Given the description of an element on the screen output the (x, y) to click on. 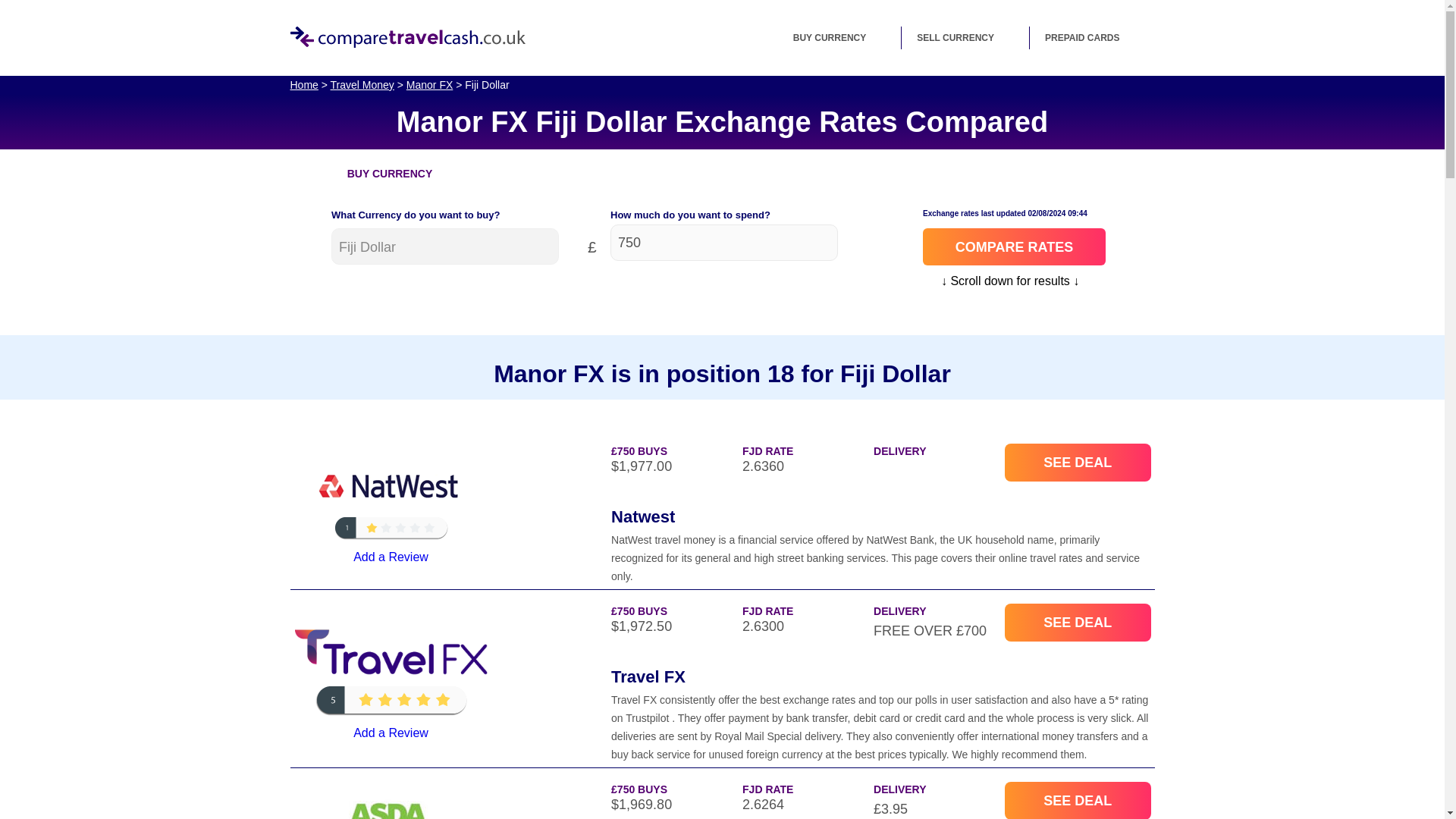
buy travel money (839, 37)
Travel Money (362, 84)
SEE DEAL (1077, 462)
Add a Review (390, 557)
SEE DEAL (1077, 622)
PREPAID CARDS (1091, 37)
SELL CURRENCY (965, 37)
750 (724, 242)
Manor FX (429, 84)
Add a Review (390, 733)
Home (303, 84)
COMPARE RATES (1014, 246)
Compare travel money (406, 36)
BUY CURRENCY (839, 37)
